Given the description of an element on the screen output the (x, y) to click on. 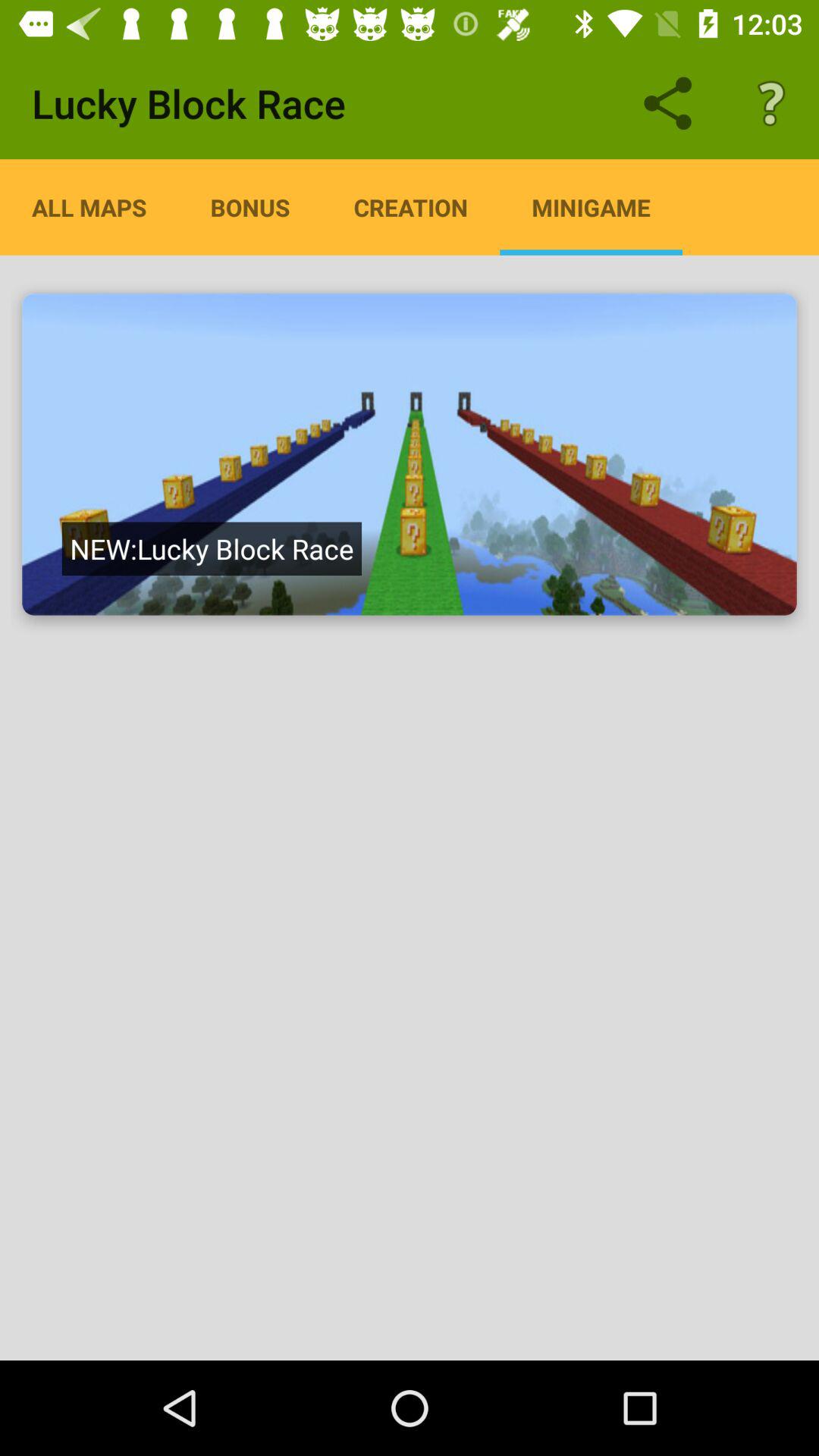
open icon next to the minigame (410, 207)
